Given the description of an element on the screen output the (x, y) to click on. 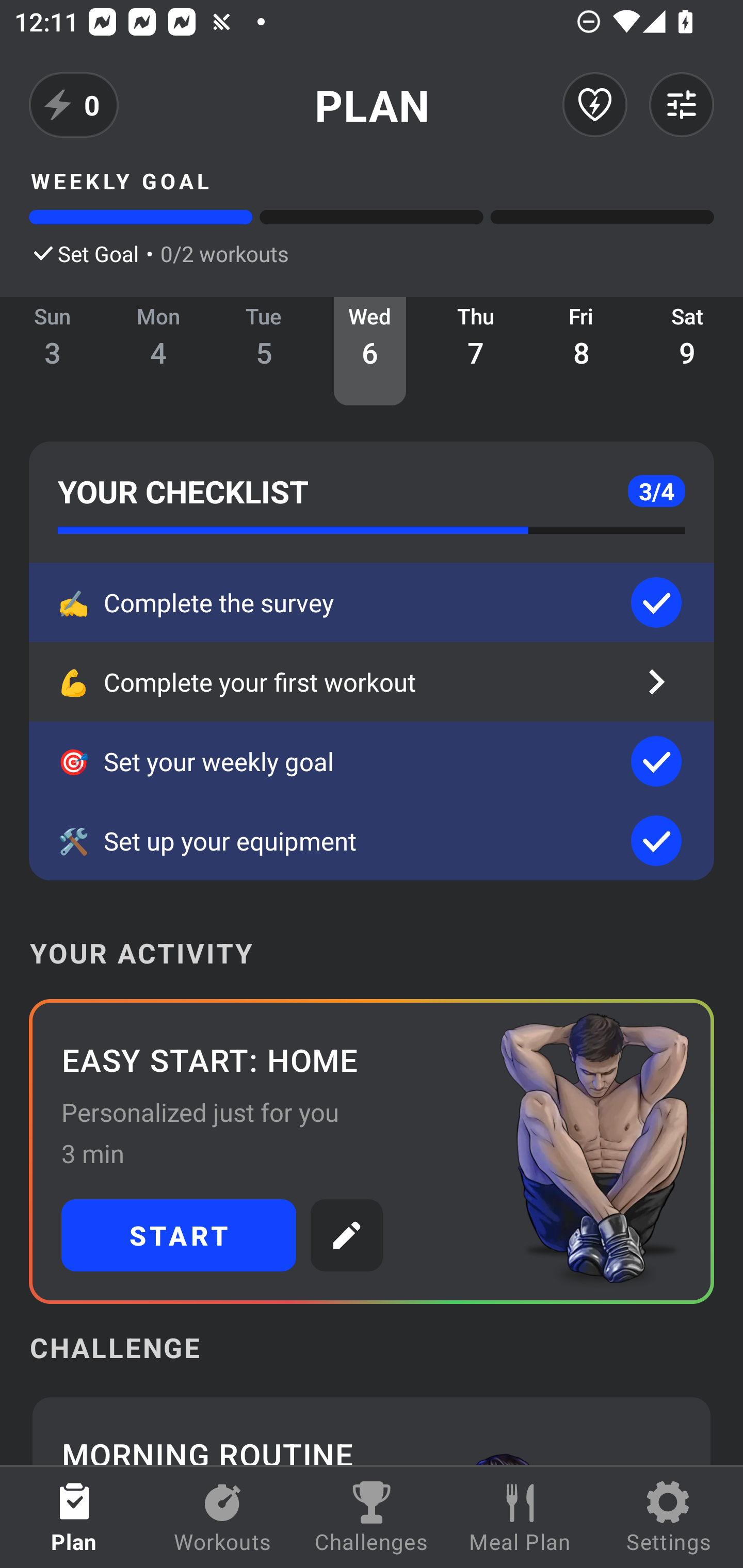
0 (73, 104)
Sun 3 (52, 351)
Mon 4 (158, 351)
Tue 5 (264, 351)
Wed 6 (369, 351)
Thu 7 (475, 351)
Fri 8 (581, 351)
Sat 9 (687, 351)
💪 Complete your first workout (371, 681)
START (178, 1235)
 Workouts  (222, 1517)
 Challenges  (371, 1517)
 Meal Plan  (519, 1517)
 Settings  (668, 1517)
